Given the description of an element on the screen output the (x, y) to click on. 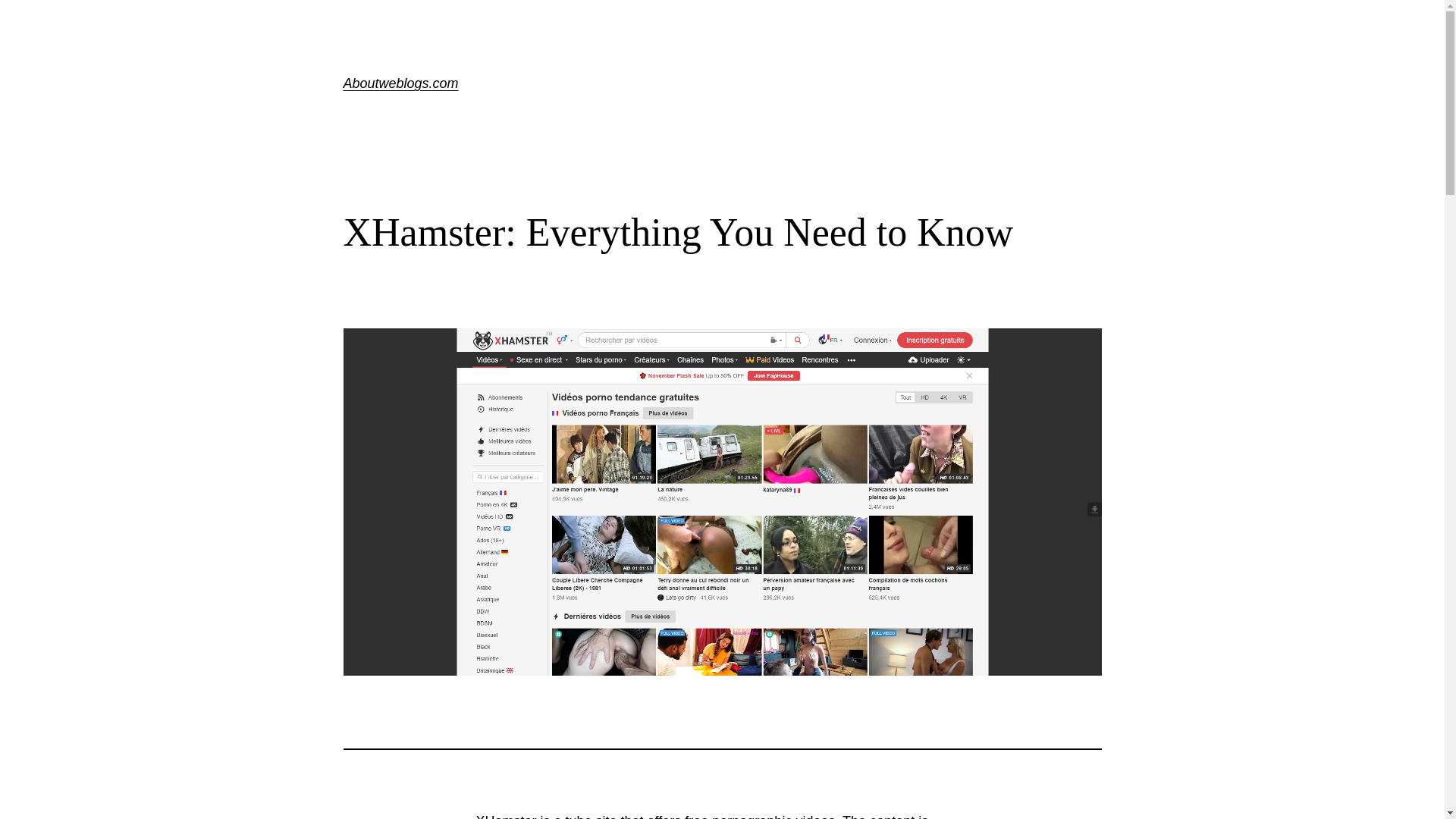
Aboutweblogs.com (400, 83)
